Given the description of an element on the screen output the (x, y) to click on. 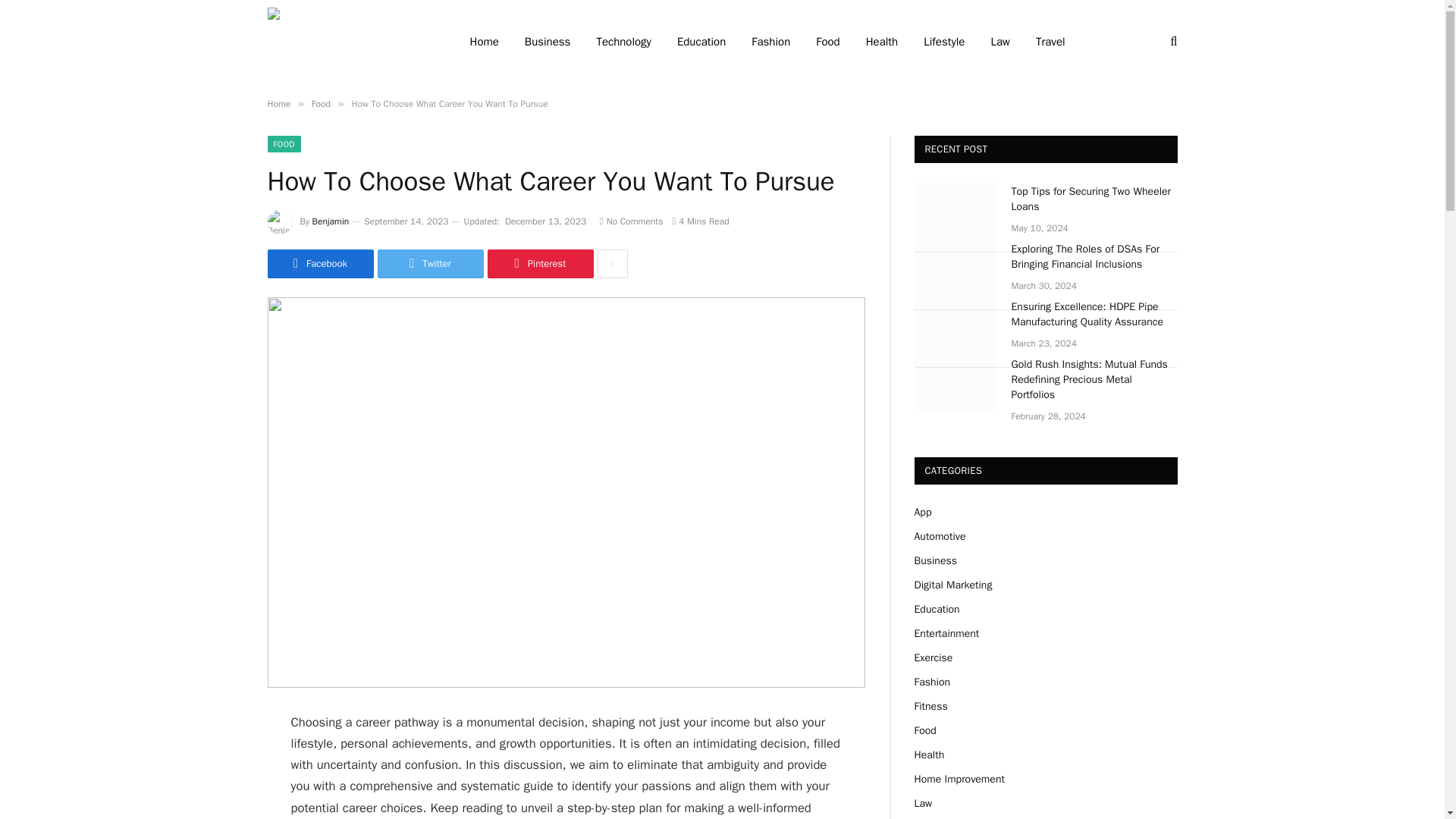
Show More Social Sharing (611, 263)
Posts by Benjamin (331, 221)
Food (320, 103)
Technology (623, 41)
Benjamin (331, 221)
No Comments (630, 221)
Home (277, 103)
FOOD (282, 143)
Share on Pinterest (539, 263)
Twitter (430, 263)
Share on Facebook (319, 263)
Foto Log News (347, 41)
Education (700, 41)
Facebook (319, 263)
